Given the description of an element on the screen output the (x, y) to click on. 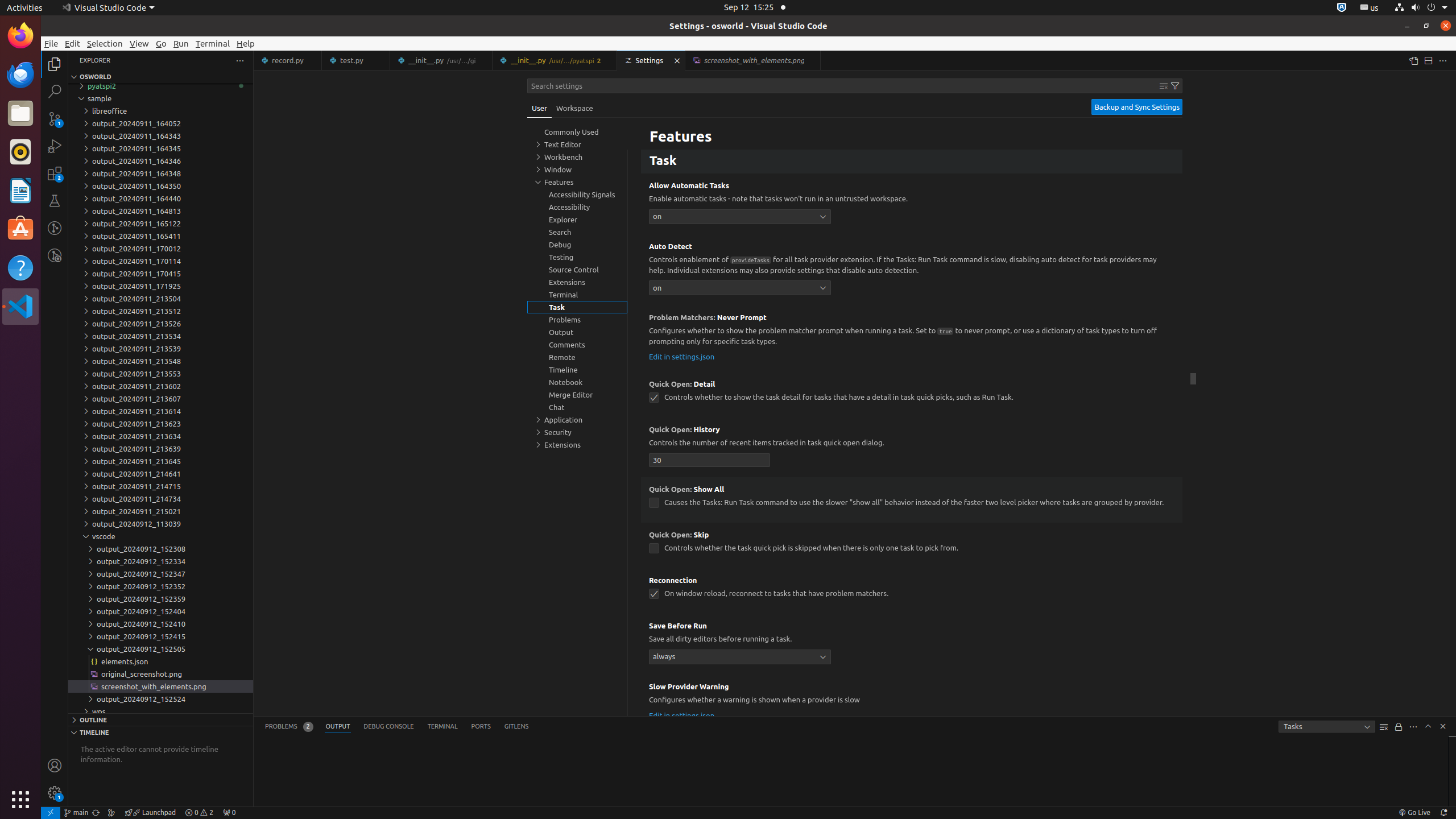
Warnings: 2 Element type: push-button (199, 812)
record.py Element type: page-tab (287, 60)
Application, group Element type: tree-item (577, 419)
Output (Ctrl+K Ctrl+H) Element type: page-tab (337, 726)
